Given the description of an element on the screen output the (x, y) to click on. 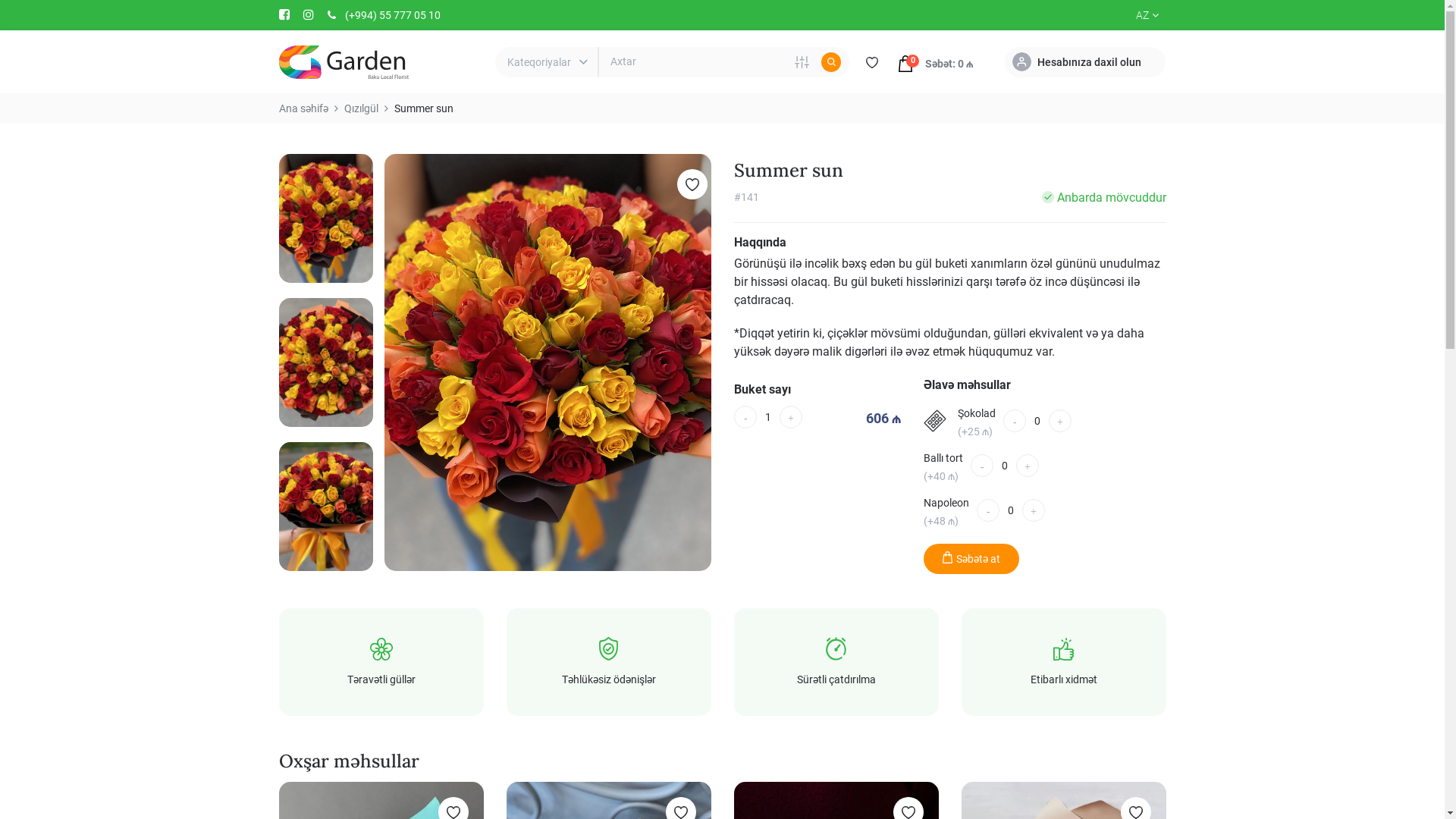
(+994) 55 777 05 10 Element type: text (389, 15)
Summer sun Element type: text (423, 108)
